Given the description of an element on the screen output the (x, y) to click on. 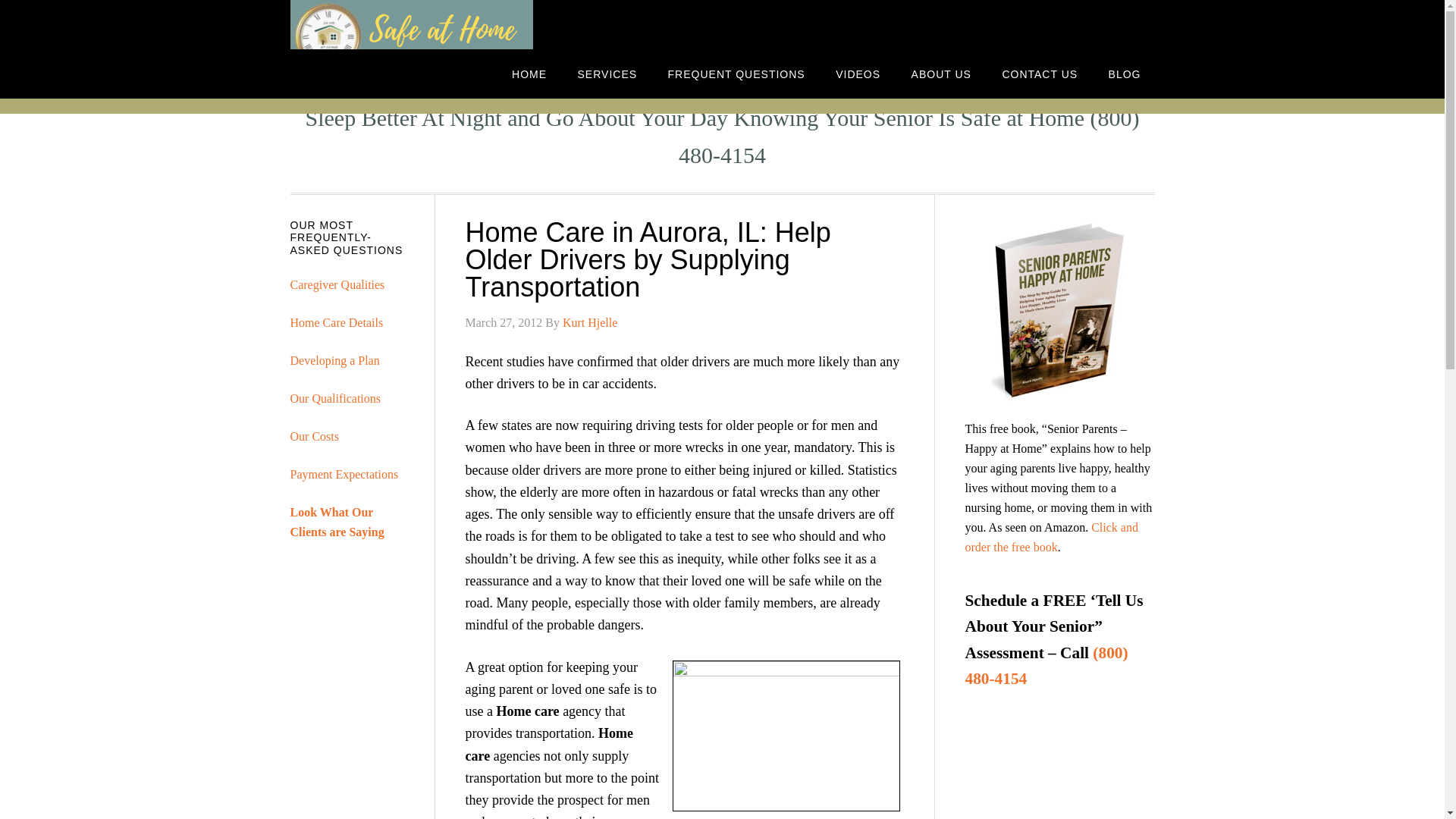
Home Care Details (335, 322)
ABOUT US (941, 73)
FREQUENT QUESTIONS (735, 73)
Home care (549, 743)
Senior Parents Happy at Home book (1059, 309)
BLOG (1124, 73)
SERVICES (607, 73)
Kurt Hjelle (589, 321)
VIDEOS (857, 73)
Our Qualifications (334, 398)
Home care (527, 711)
SAFE AT HOME HEALTHCARE (410, 24)
Home Care in Aurora IL (527, 711)
CONTACT US (1039, 73)
